Given the description of an element on the screen output the (x, y) to click on. 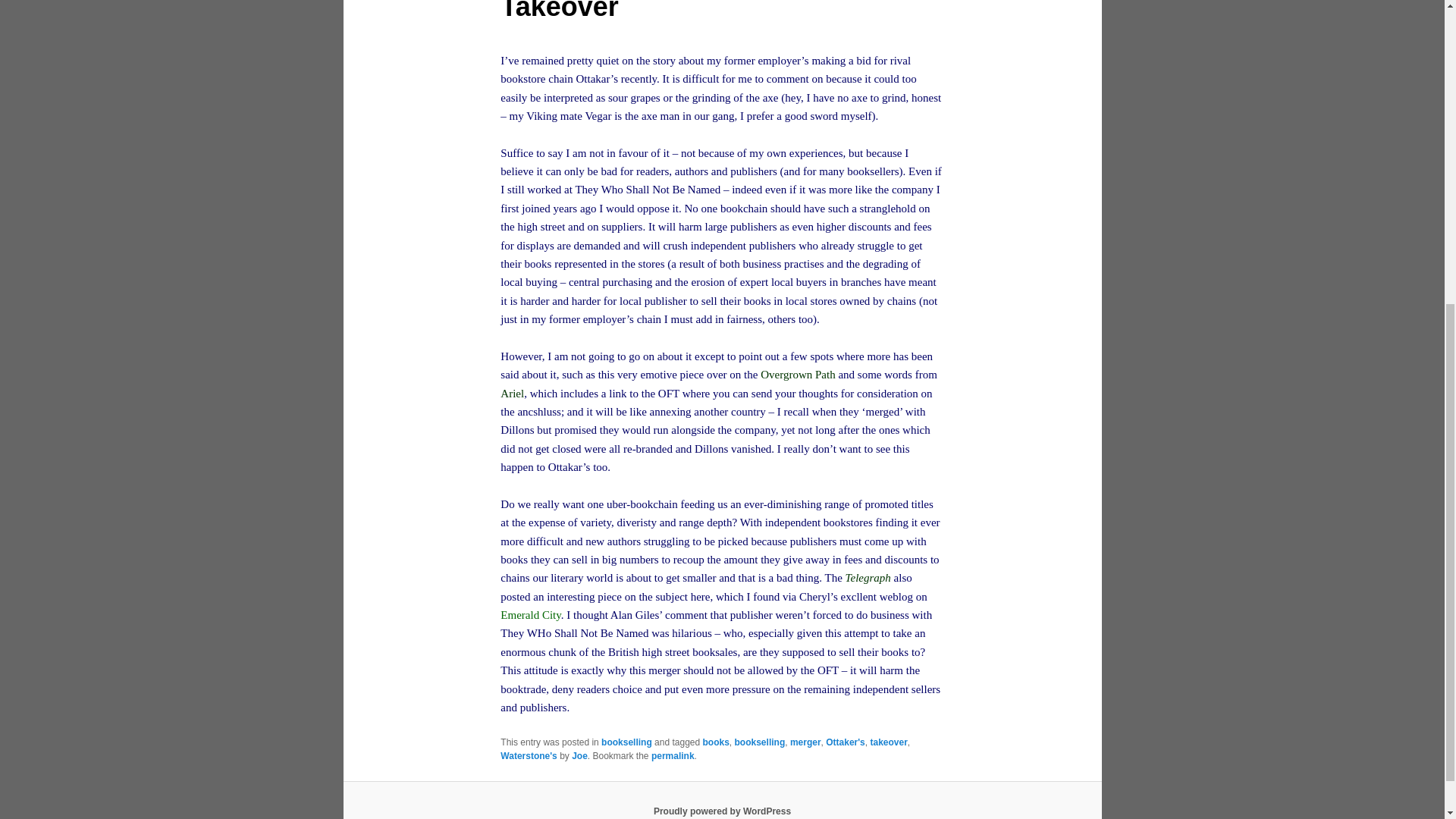
permalink (672, 756)
books (716, 742)
Joe (580, 756)
Ariel (512, 393)
Overgrown Path (797, 374)
Proudly powered by WordPress (721, 810)
bookselling (760, 742)
bookselling (626, 742)
Waterstone's (528, 756)
Ottaker's (844, 742)
Semantic Personal Publishing Platform (721, 810)
merger (805, 742)
Telegraph (868, 577)
Emerald City (530, 614)
takeover (888, 742)
